Given the description of an element on the screen output the (x, y) to click on. 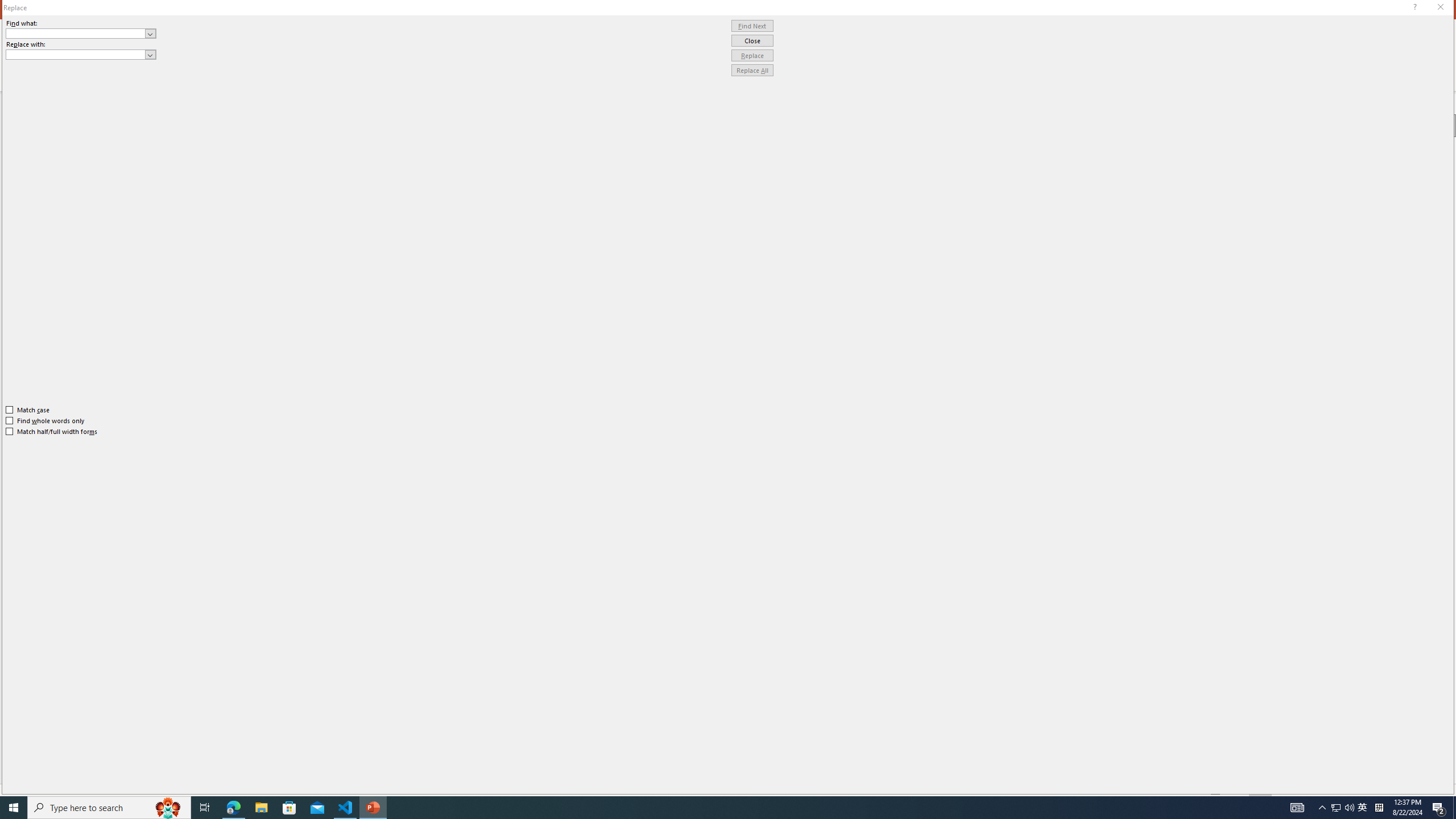
Hide background graphics (1337, 222)
